Given the description of an element on the screen output the (x, y) to click on. 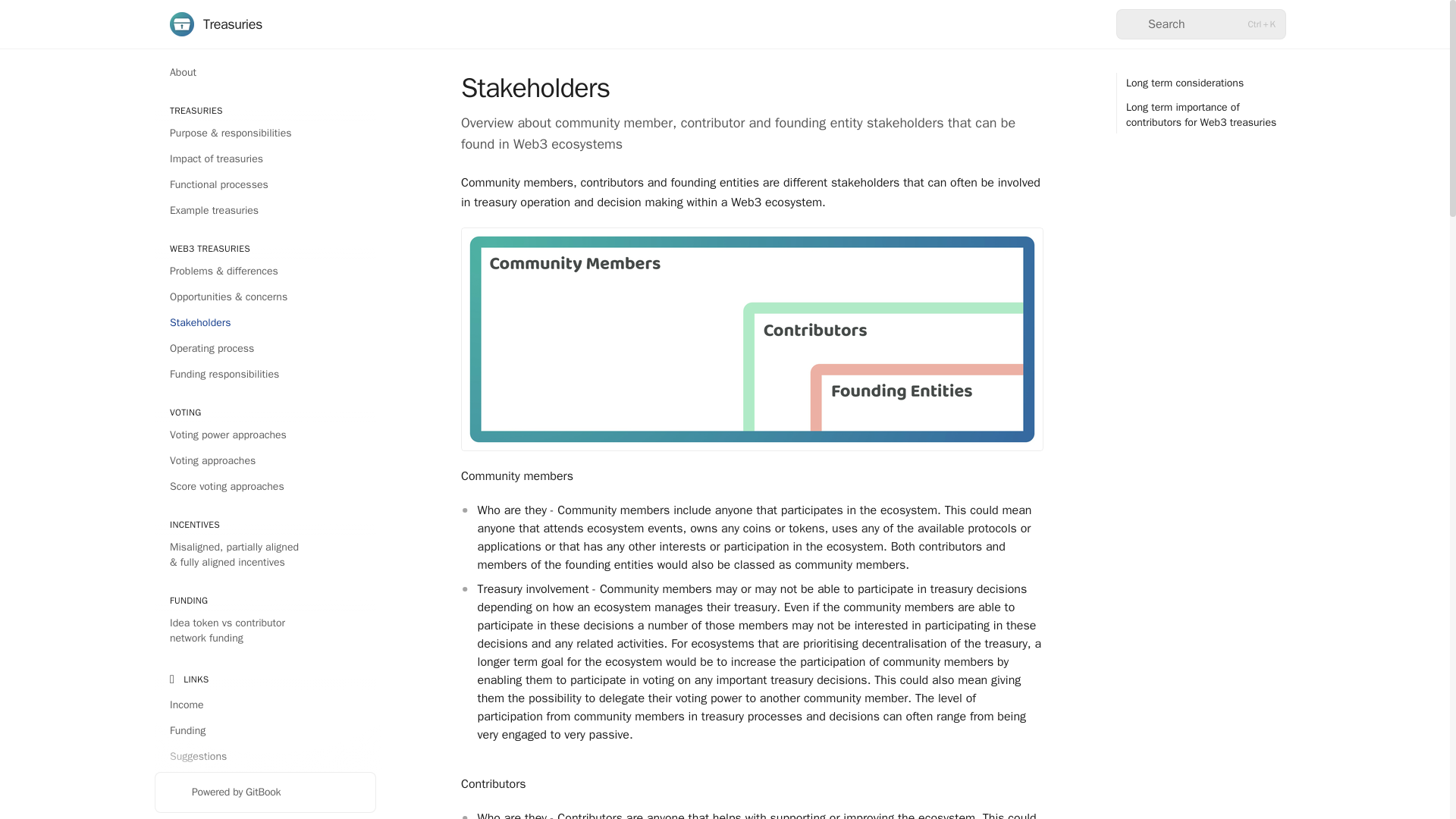
Impact of treasuries (264, 159)
Treasuries (216, 24)
Funding responsibilities (264, 374)
Stakeholders (264, 322)
Operating process (264, 348)
Functional processes (264, 184)
Voting power approaches (264, 435)
Score voting approaches (264, 486)
Voting approaches (264, 460)
About (264, 72)
